Given the description of an element on the screen output the (x, y) to click on. 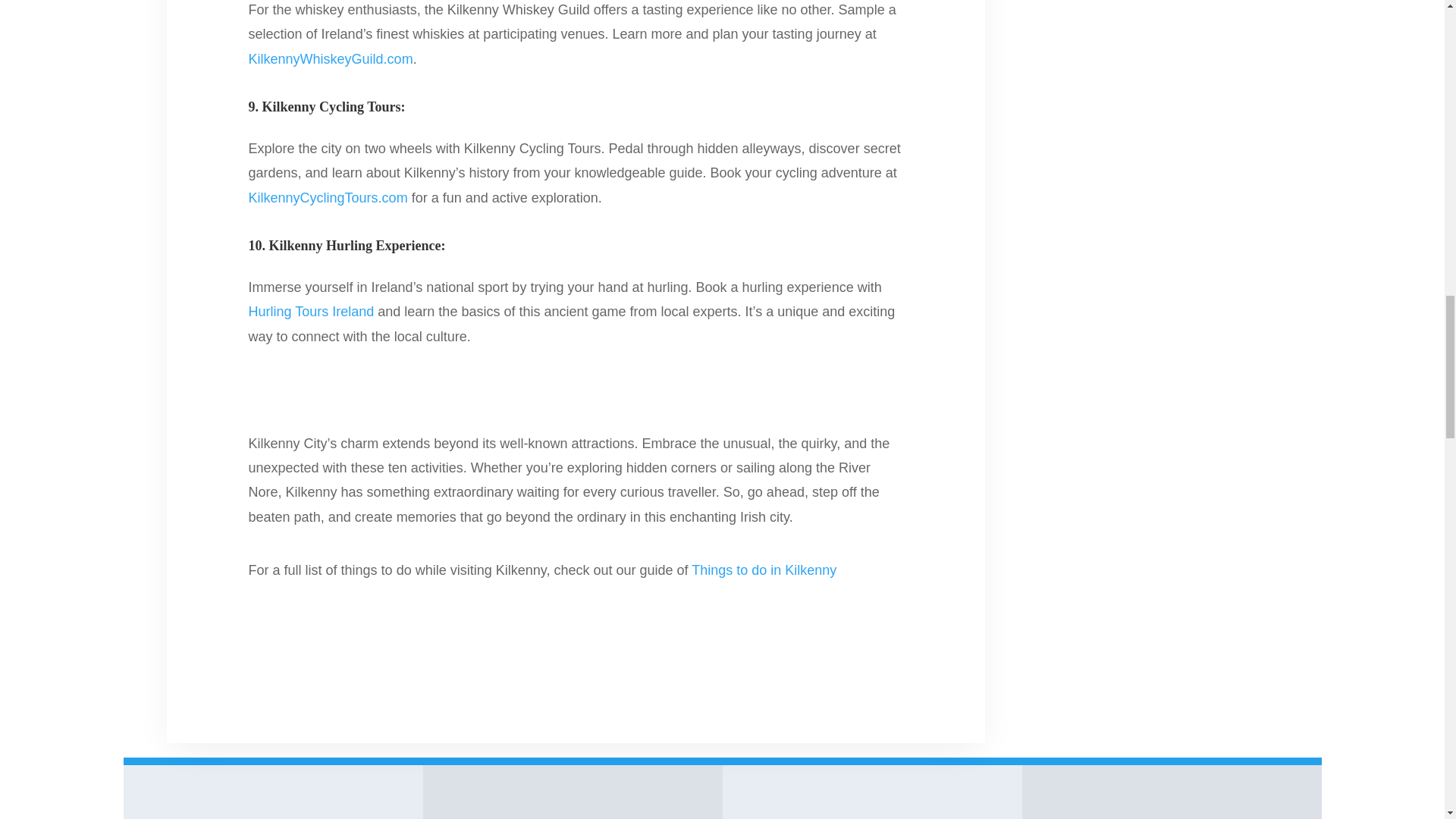
KilkennyCyclingTours.com (327, 197)
Hurling Tours Ireland (311, 311)
Things to do in Kilkenny (763, 570)
KilkennyWhiskeyGuild.com (330, 58)
